Given the description of an element on the screen output the (x, y) to click on. 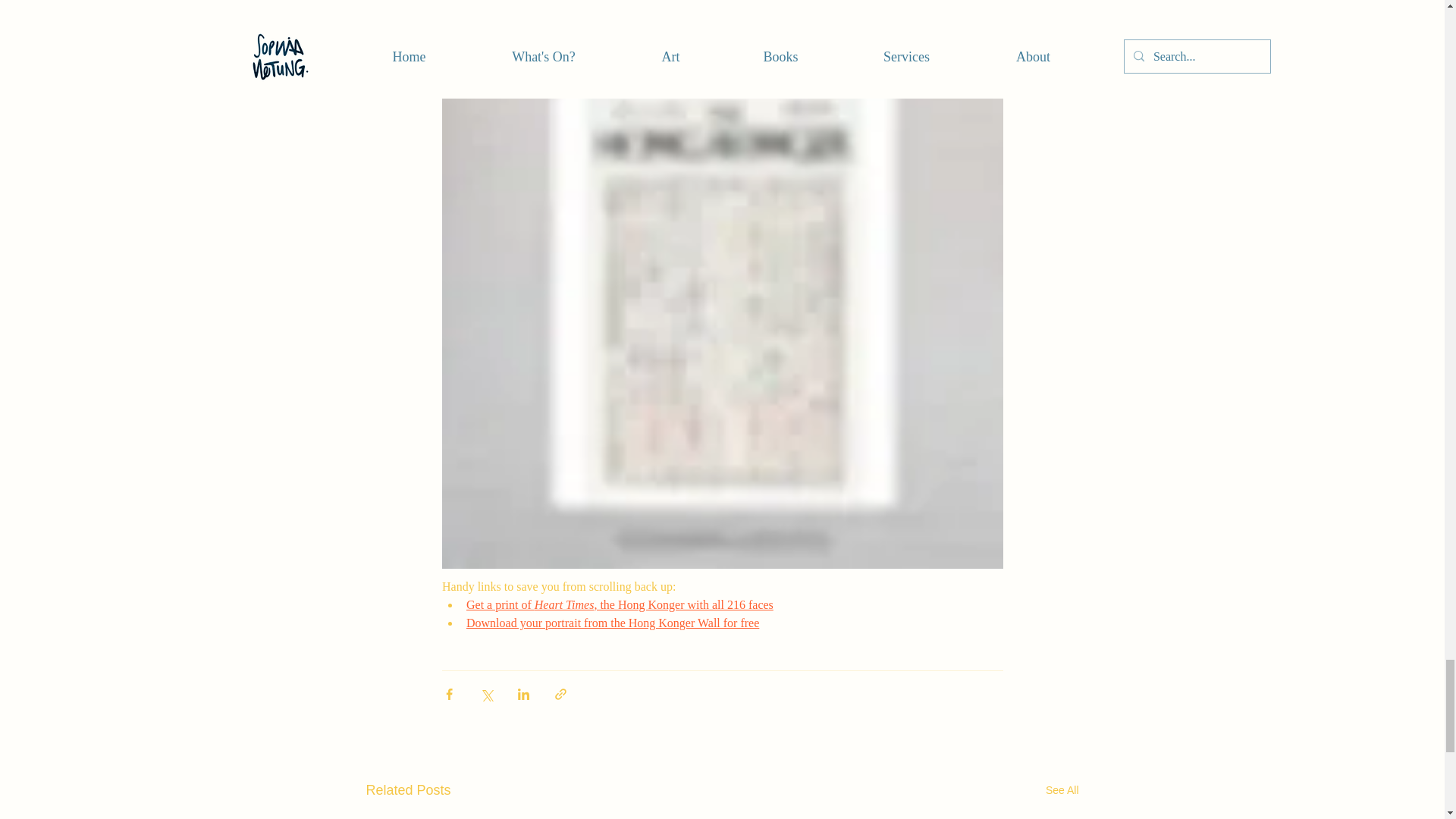
Heart Times (564, 604)
, the Hong Konger with all 216 faces (683, 604)
See All (1061, 790)
Download your portrait from the Hong Konger Wall for free (611, 622)
Get a print of  (499, 604)
